Given the description of an element on the screen output the (x, y) to click on. 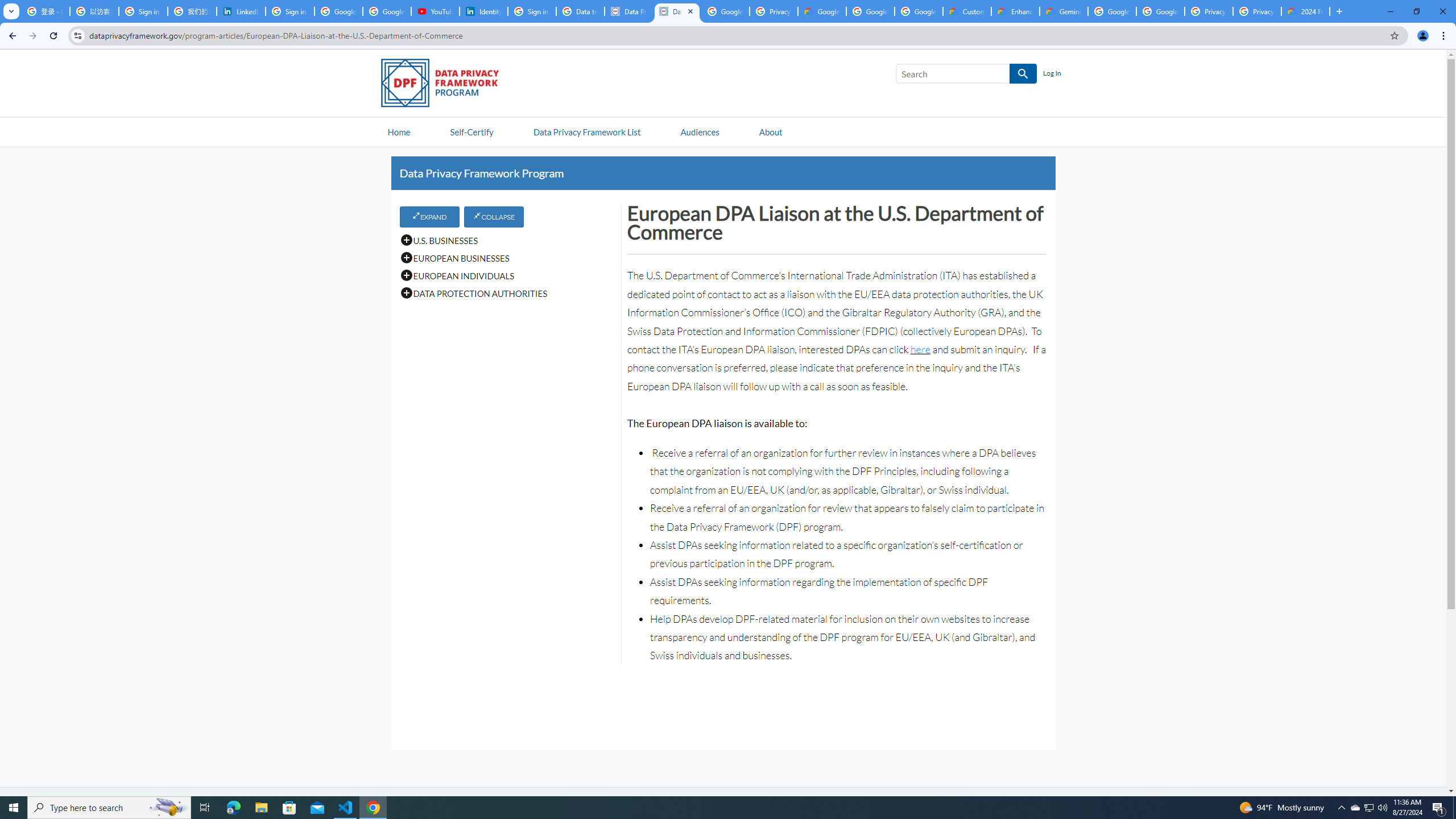
Search SEARCH (965, 75)
Data Privacy Framework List (586, 131)
COLLAPSE (494, 216)
Google Workspace - Specific Terms (870, 11)
Enhanced Support | Google Cloud (1015, 11)
Data Privacy Framework Logo - Link to Homepage (445, 85)
